Given the description of an element on the screen output the (x, y) to click on. 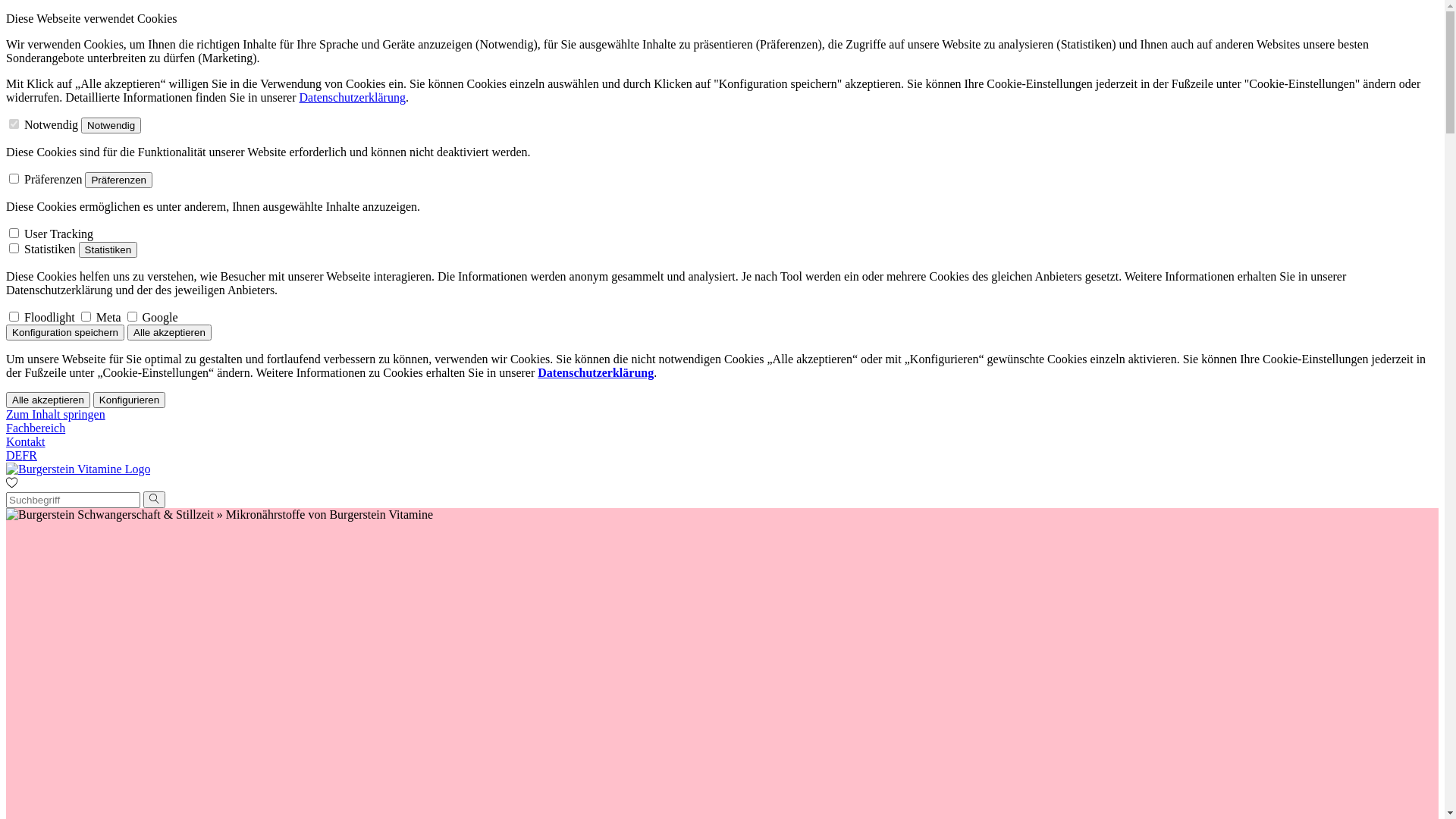
Statistiken Element type: text (108, 249)
Alle akzeptieren Element type: text (48, 399)
Kontakt Element type: text (25, 441)
Konfiguration speichern Element type: text (65, 332)
Zum Inhalt springen Element type: text (55, 413)
Alle akzeptieren Element type: text (169, 332)
DE Element type: text (13, 454)
Fachbereich Element type: text (35, 427)
FR Element type: text (29, 454)
Notwendig Element type: text (111, 125)
Konfigurieren Element type: text (129, 399)
